Given the description of an element on the screen output the (x, y) to click on. 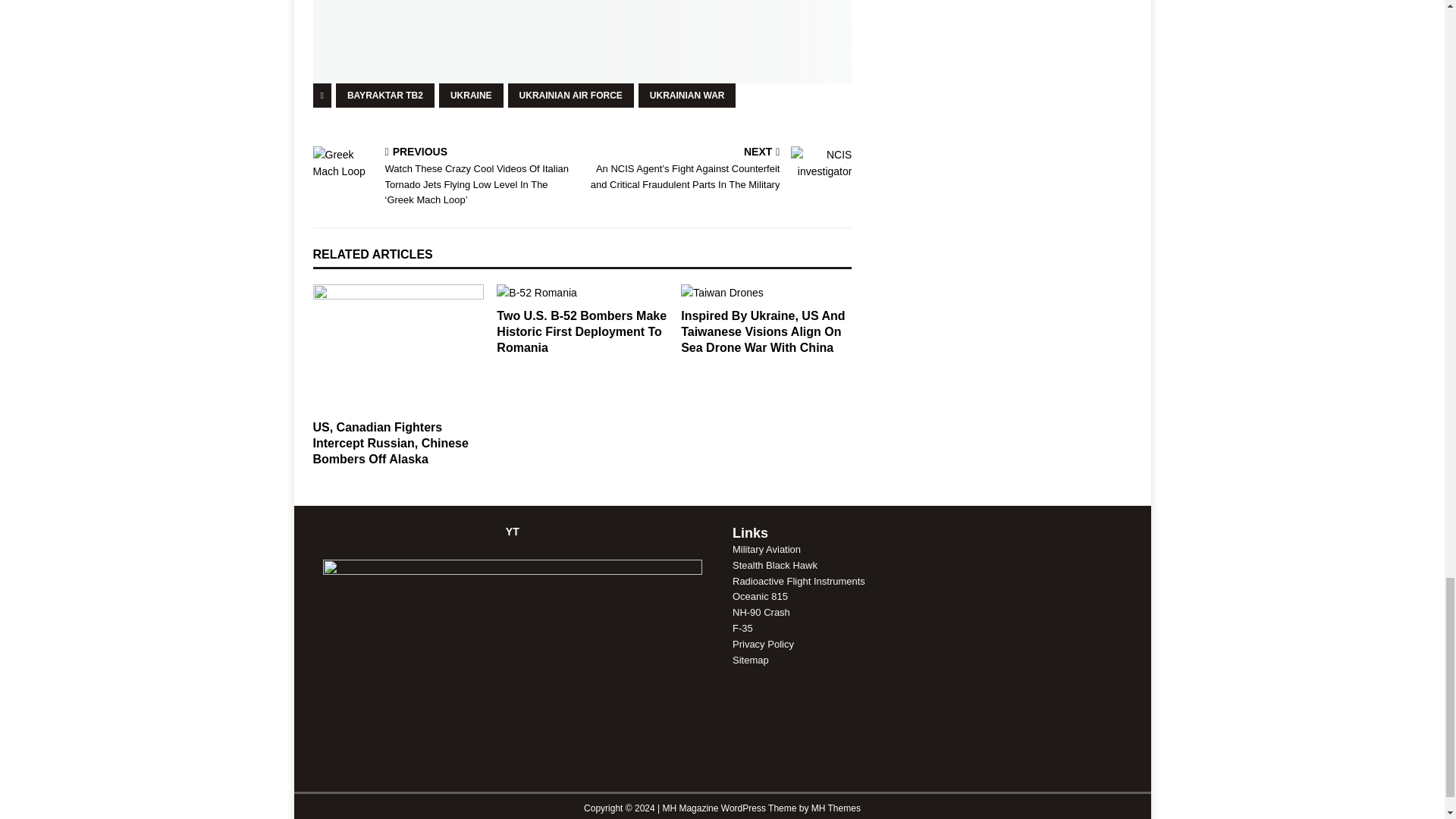
UKRAINIAN WAR (687, 95)
UKRAINIAN AIR FORCE (570, 95)
UKRAINE (471, 95)
BAYRAKTAR TB2 (384, 95)
